Given the description of an element on the screen output the (x, y) to click on. 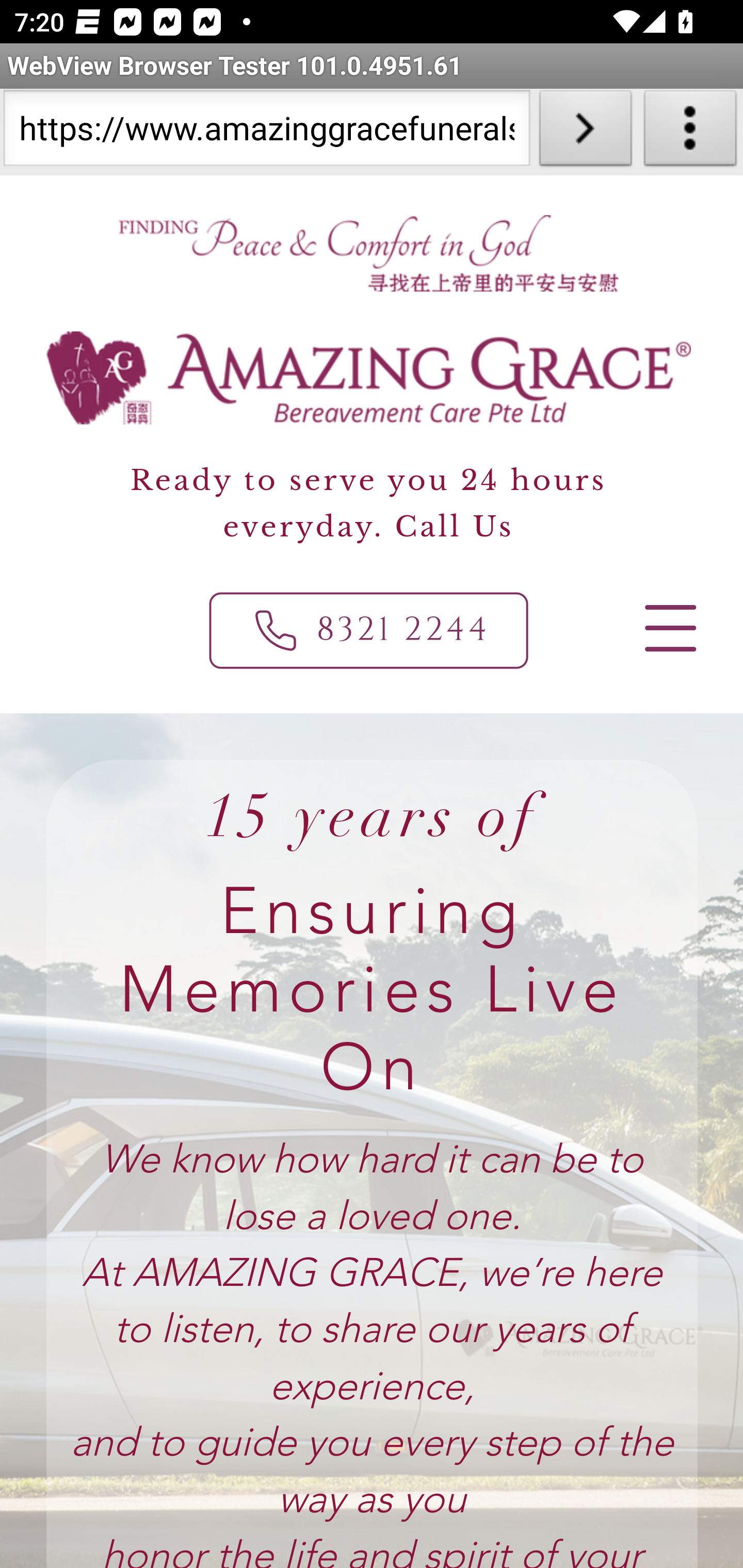
Load URL (585, 132)
About WebView (690, 132)
AG_H5 Finding God_edited.png (366, 253)
AG_H1 Logo Name_edited.png (369, 377)
Open navigation menu (669, 627)
8321 2244 (368, 630)
